Given the description of an element on the screen output the (x, y) to click on. 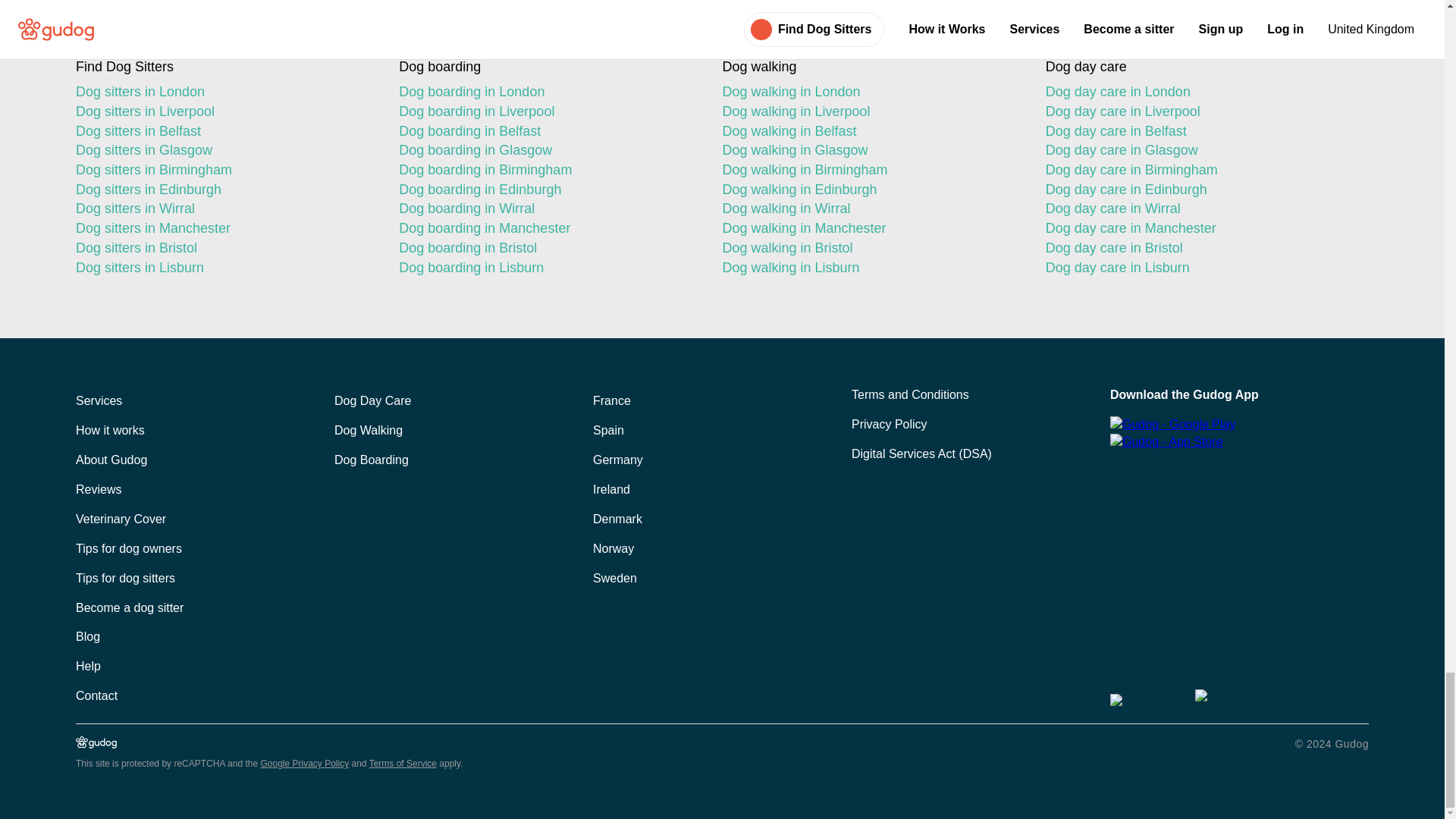
Dog sitters in Birmingham (224, 170)
Dog sitters in Wirral (224, 209)
Dog sitters in Liverpool (224, 112)
Dog sitters in Liverpool (224, 112)
Dog sitters in London (224, 92)
Dog sitters in Belfast (224, 131)
Dog sitters in Glasgow (224, 150)
Dog sitters in Edinburgh (224, 189)
Dog sitters in Lisburn (224, 268)
Dog sitters in Manchester (224, 229)
Dog sitters in Bristol (224, 248)
Dog sitters in London (224, 92)
Dog sitters in Belfast (224, 131)
